Given the description of an element on the screen output the (x, y) to click on. 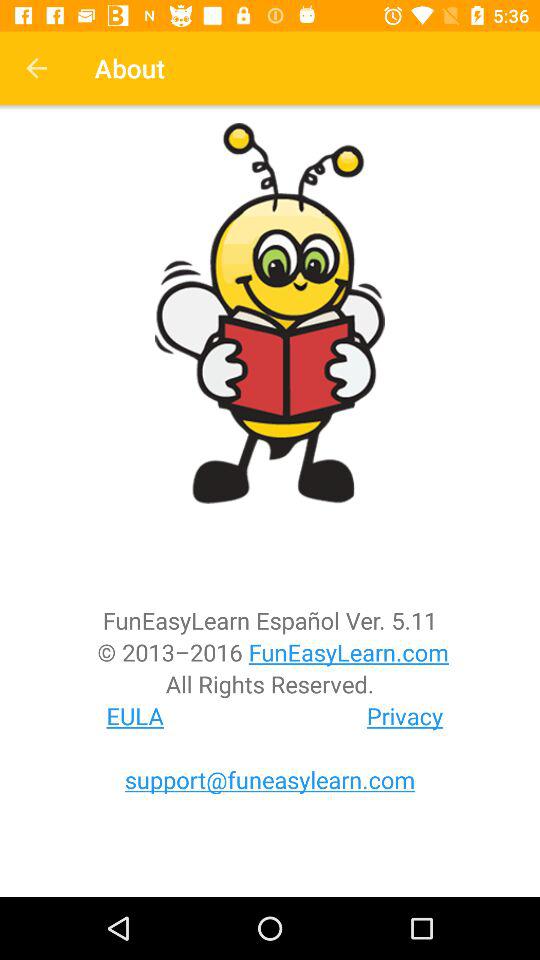
choose the item above all rights reserved. item (270, 652)
